Given the description of an element on the screen output the (x, y) to click on. 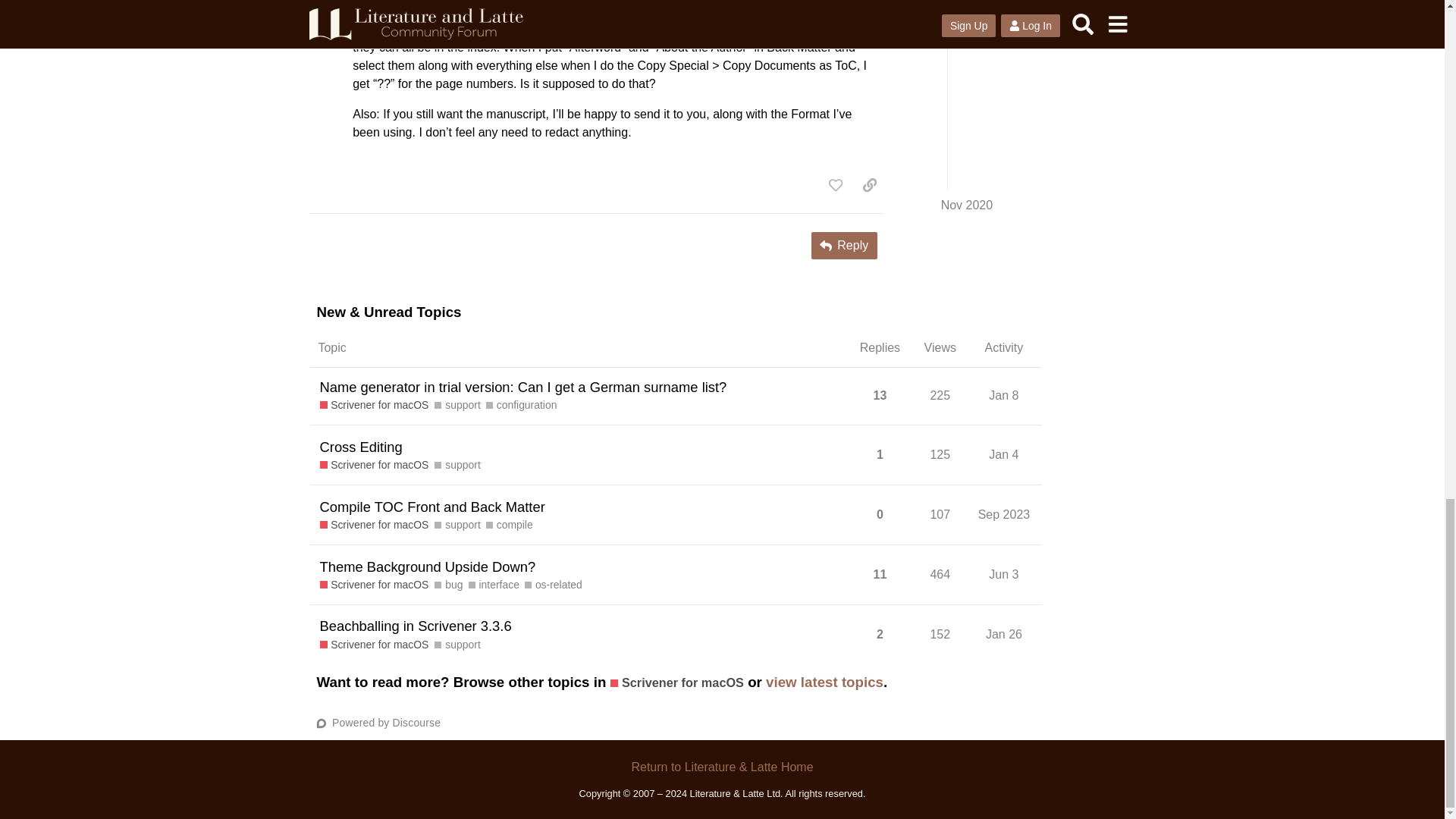
Scrivener for macOS (374, 405)
Scrivener for macOS (374, 465)
configuration (521, 405)
Jan 8 (1003, 395)
Cross Editing (361, 446)
Reply (843, 245)
support (456, 405)
